Given the description of an element on the screen output the (x, y) to click on. 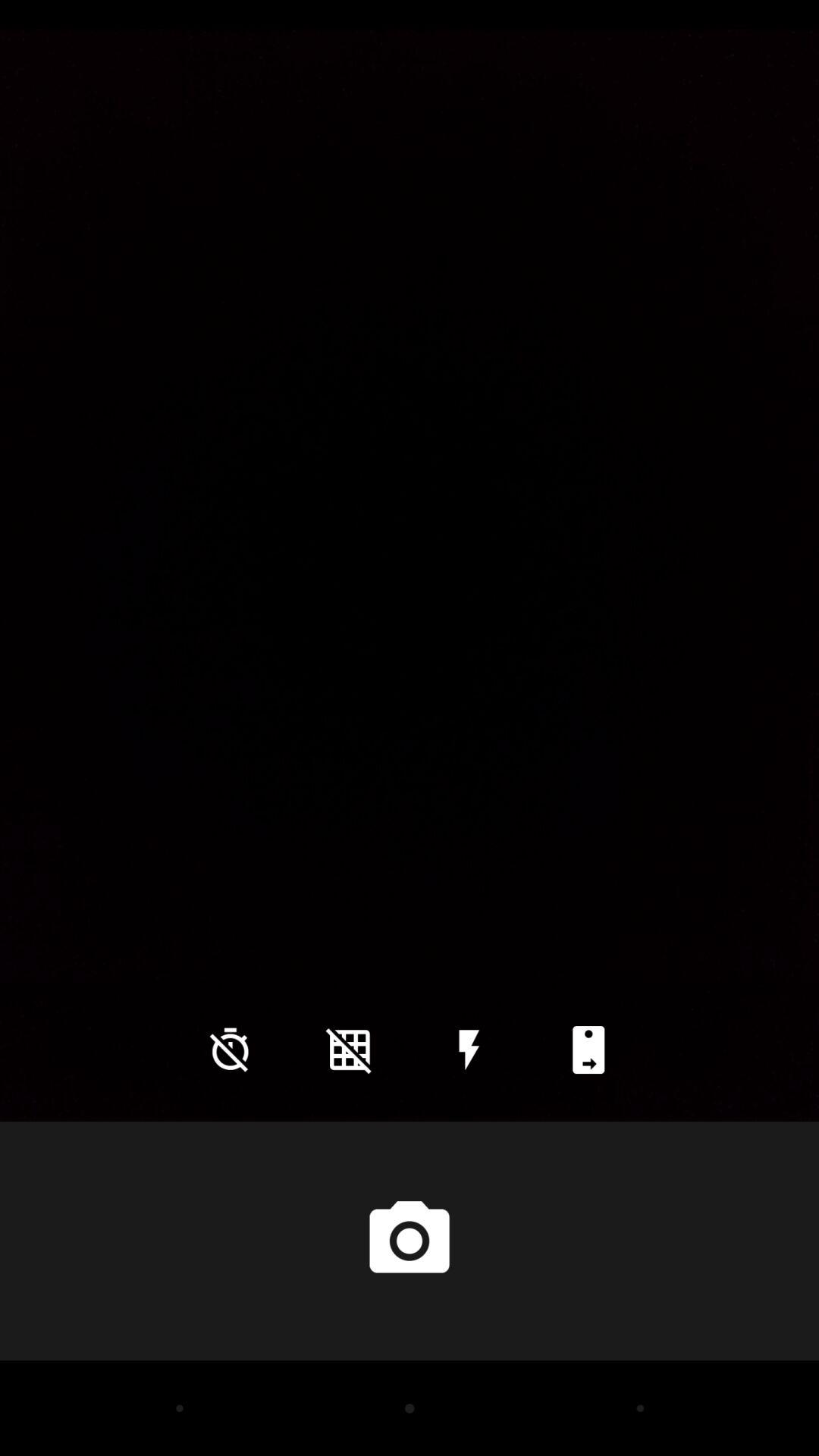
select item at the bottom right corner (588, 1049)
